Given the description of an element on the screen output the (x, y) to click on. 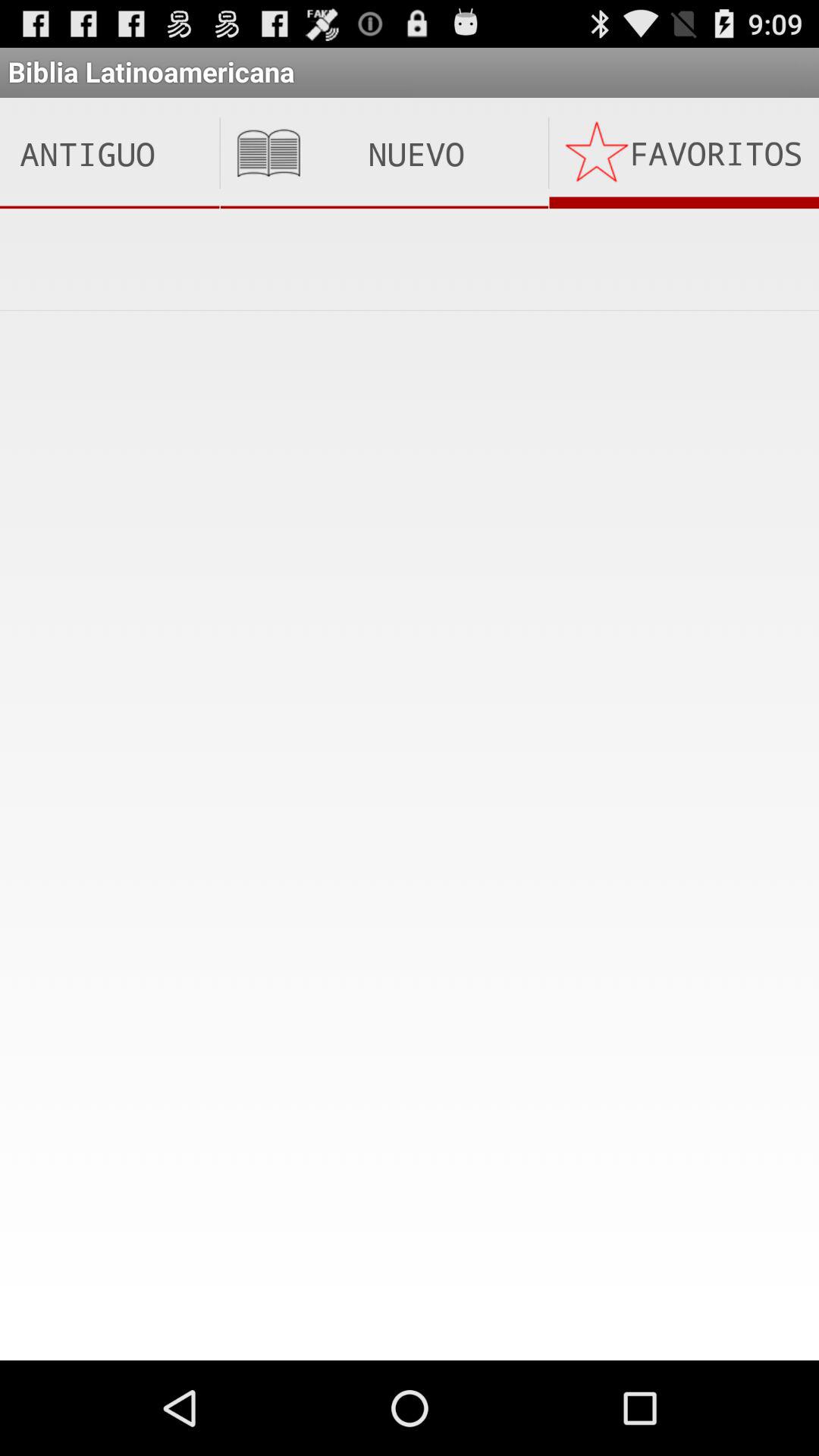
press item next to the favoritos (384, 152)
